Given the description of an element on the screen output the (x, y) to click on. 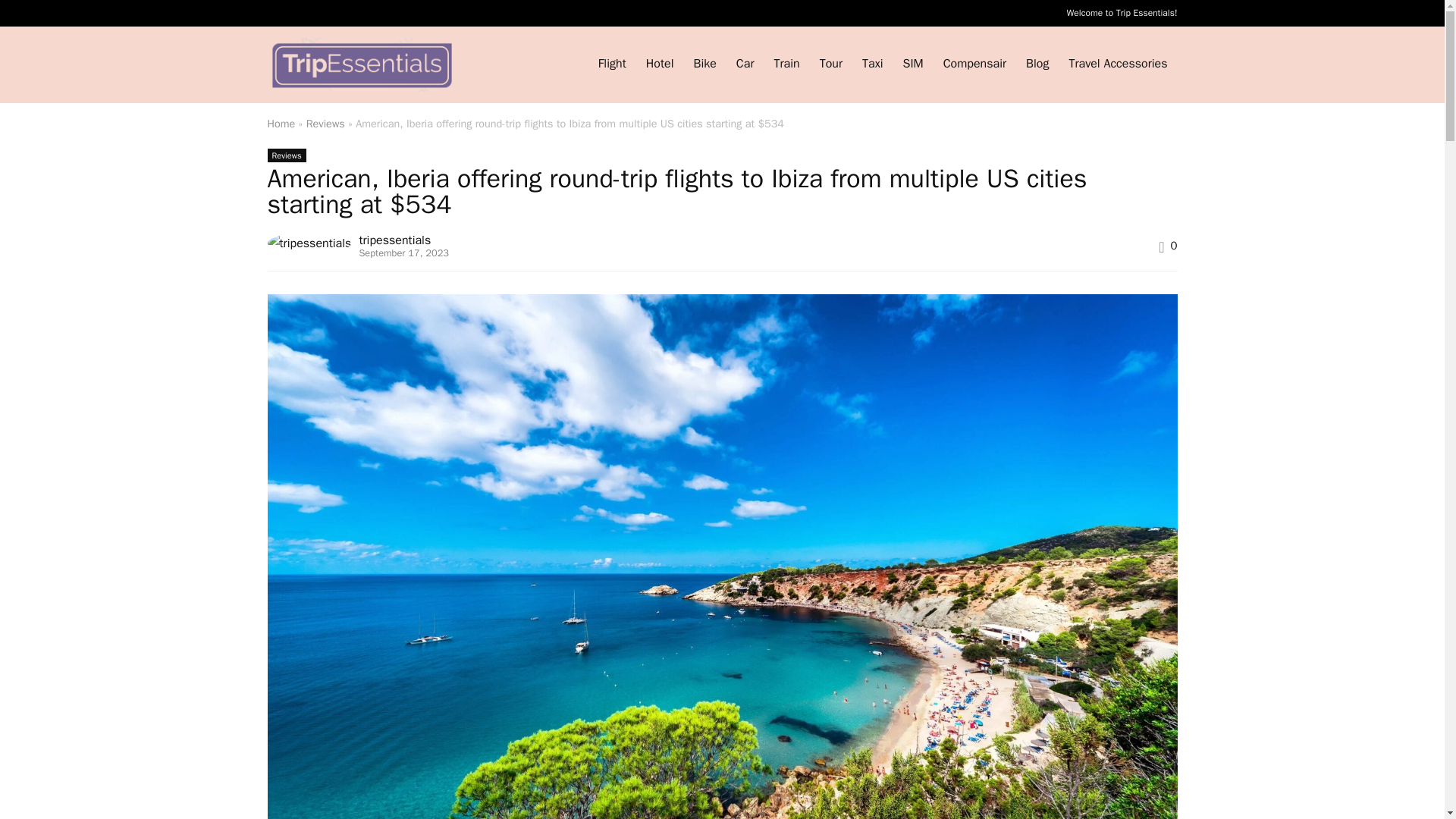
tripessentials (394, 240)
Hotel (660, 64)
Blog (1037, 64)
View all posts in Reviews (285, 155)
Taxi (871, 64)
Reviews (325, 123)
Train (785, 64)
Flight (612, 64)
Compensair (974, 64)
Travel Accessories (1117, 64)
